Given the description of an element on the screen output the (x, y) to click on. 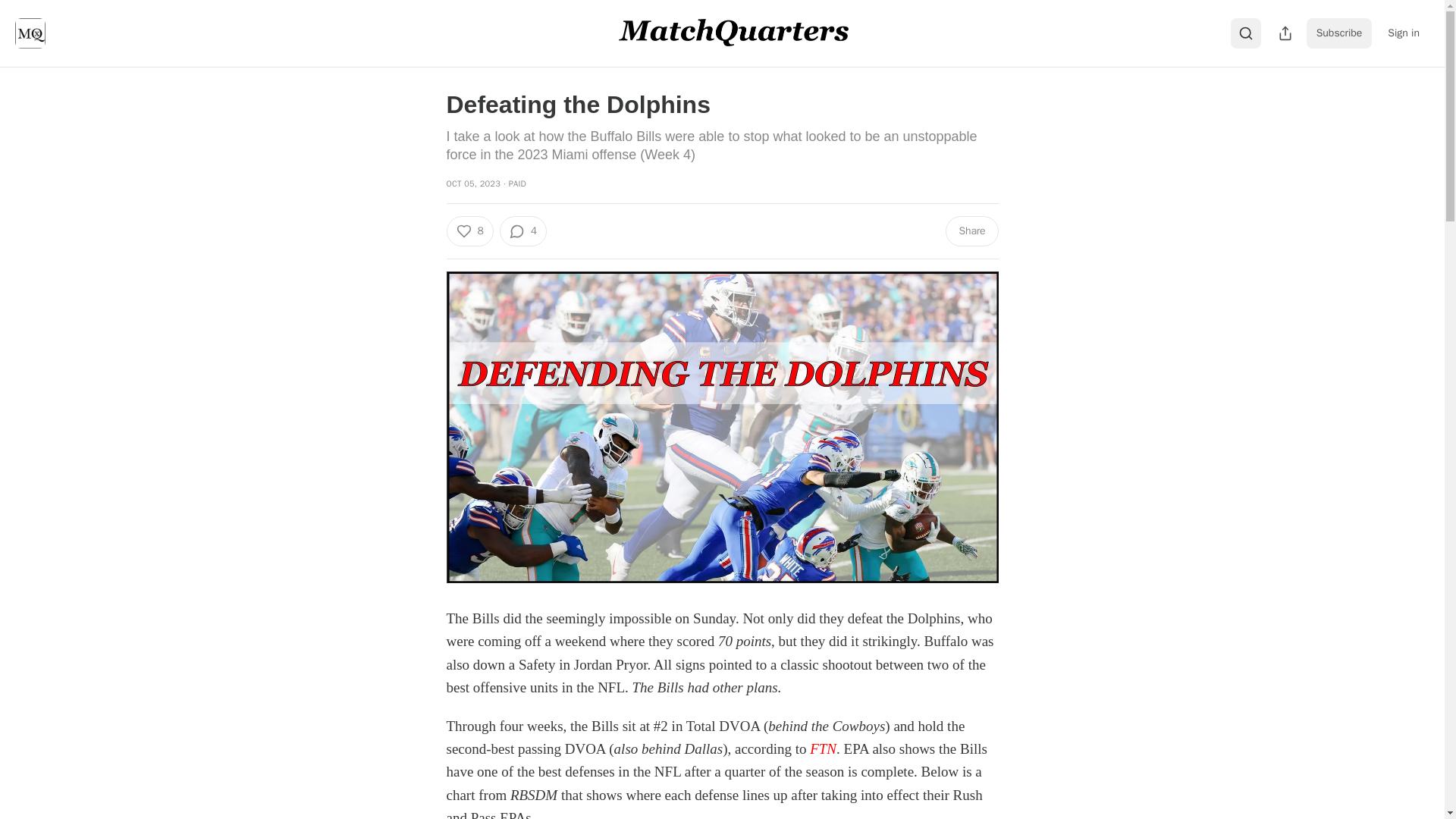
FTN (822, 748)
4 (523, 231)
Sign in (1403, 33)
8 (469, 231)
Subscribe (1339, 33)
Share (970, 231)
